Given the description of an element on the screen output the (x, y) to click on. 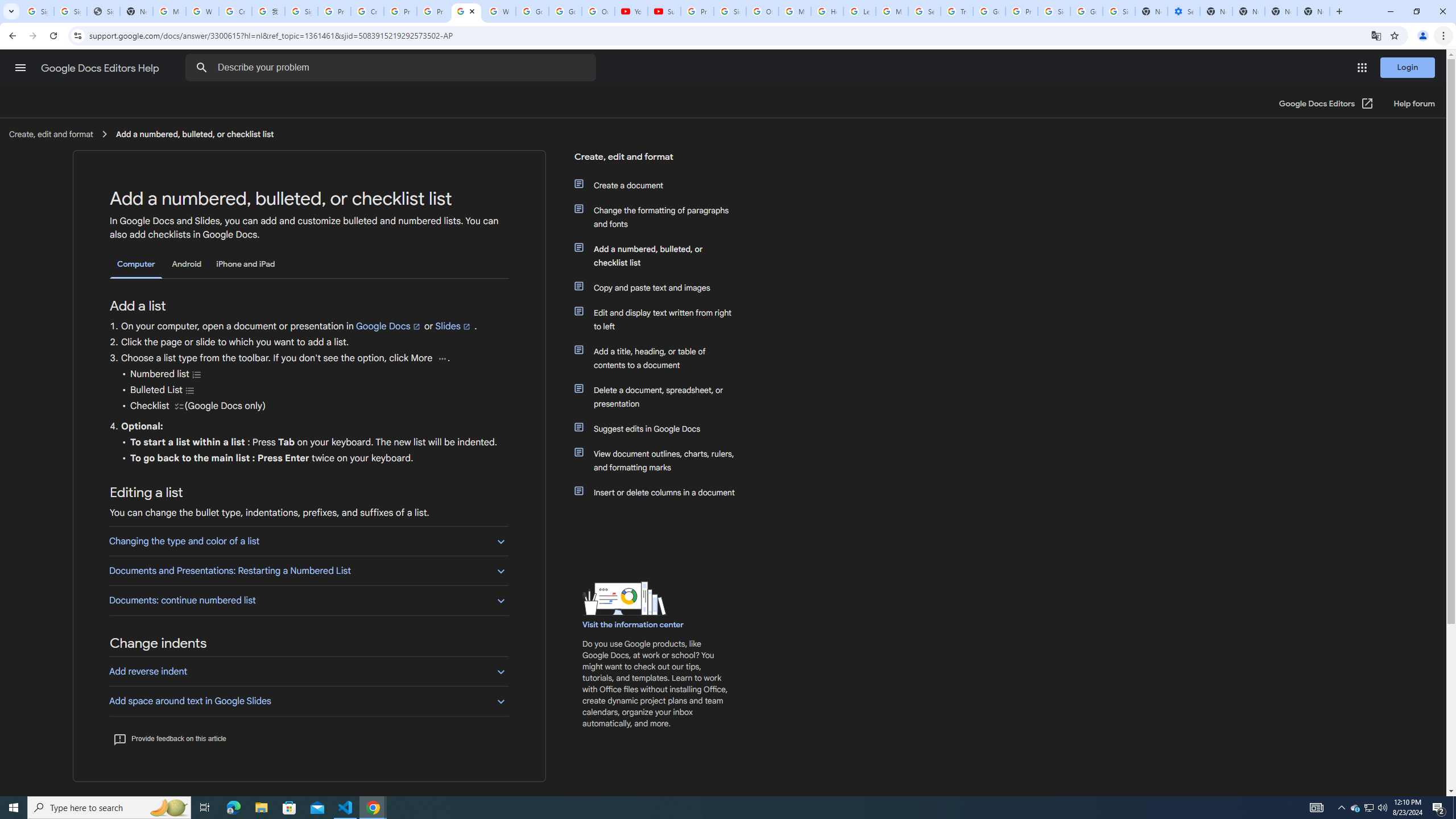
Sign in - Google Accounts (70, 11)
Welcome to My Activity (499, 11)
Address and search bar (726, 35)
View document outlines, charts, rulers, and formatting marks (661, 460)
Google Docs Editors Help (100, 68)
Chrome (1445, 35)
System (6, 6)
Add space around text in Google Slides (308, 700)
Login (1407, 67)
Help forum (1414, 103)
Google apps (1362, 67)
